Given the description of an element on the screen output the (x, y) to click on. 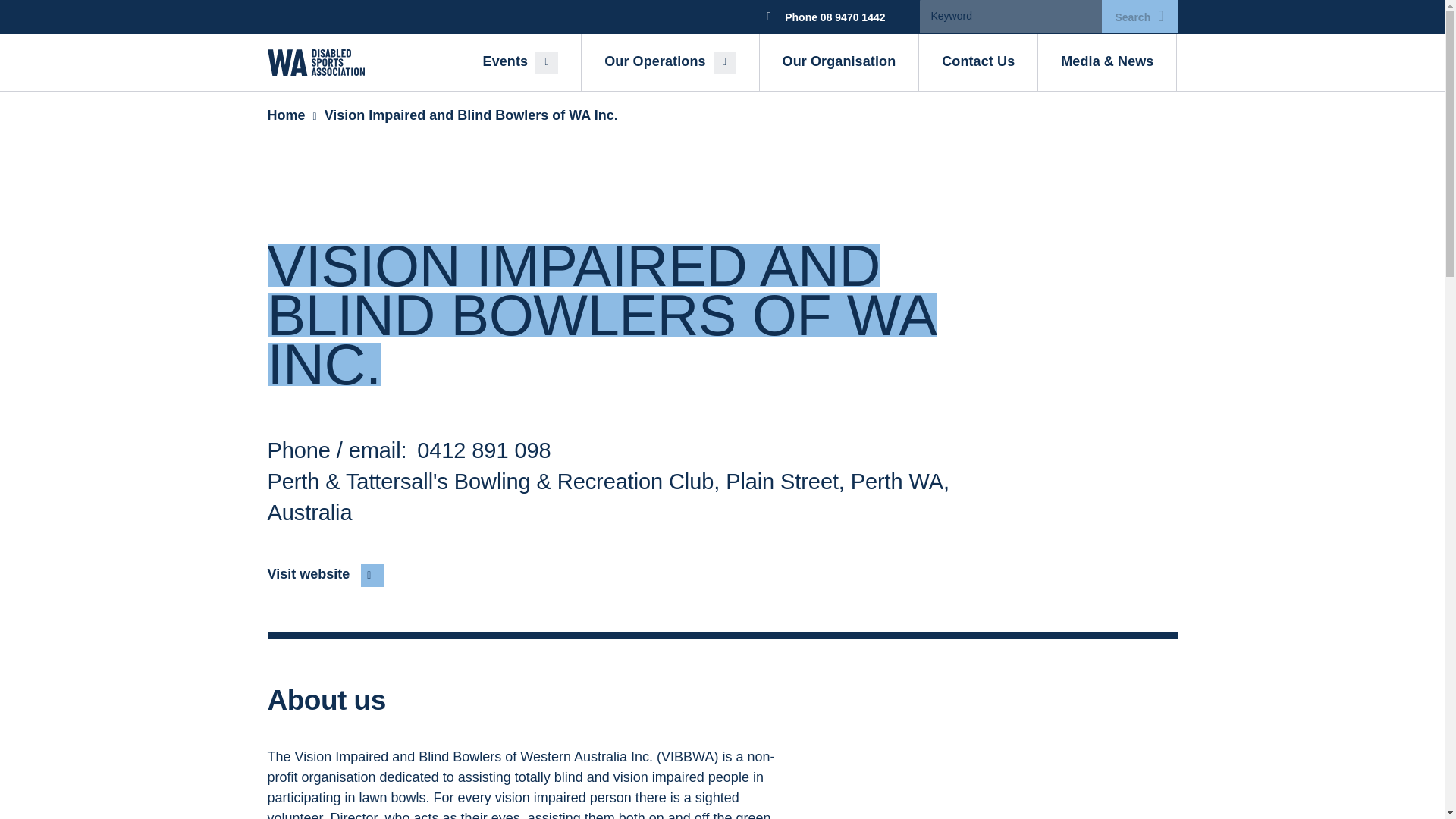
Phone 08 9470 1442 (821, 16)
Events (520, 62)
Search (1138, 16)
Go to Vision Impaired and Blind Bowlers of WA Inc.. (470, 114)
Go to WADSA. (290, 114)
Our Operations (669, 62)
